Given the description of an element on the screen output the (x, y) to click on. 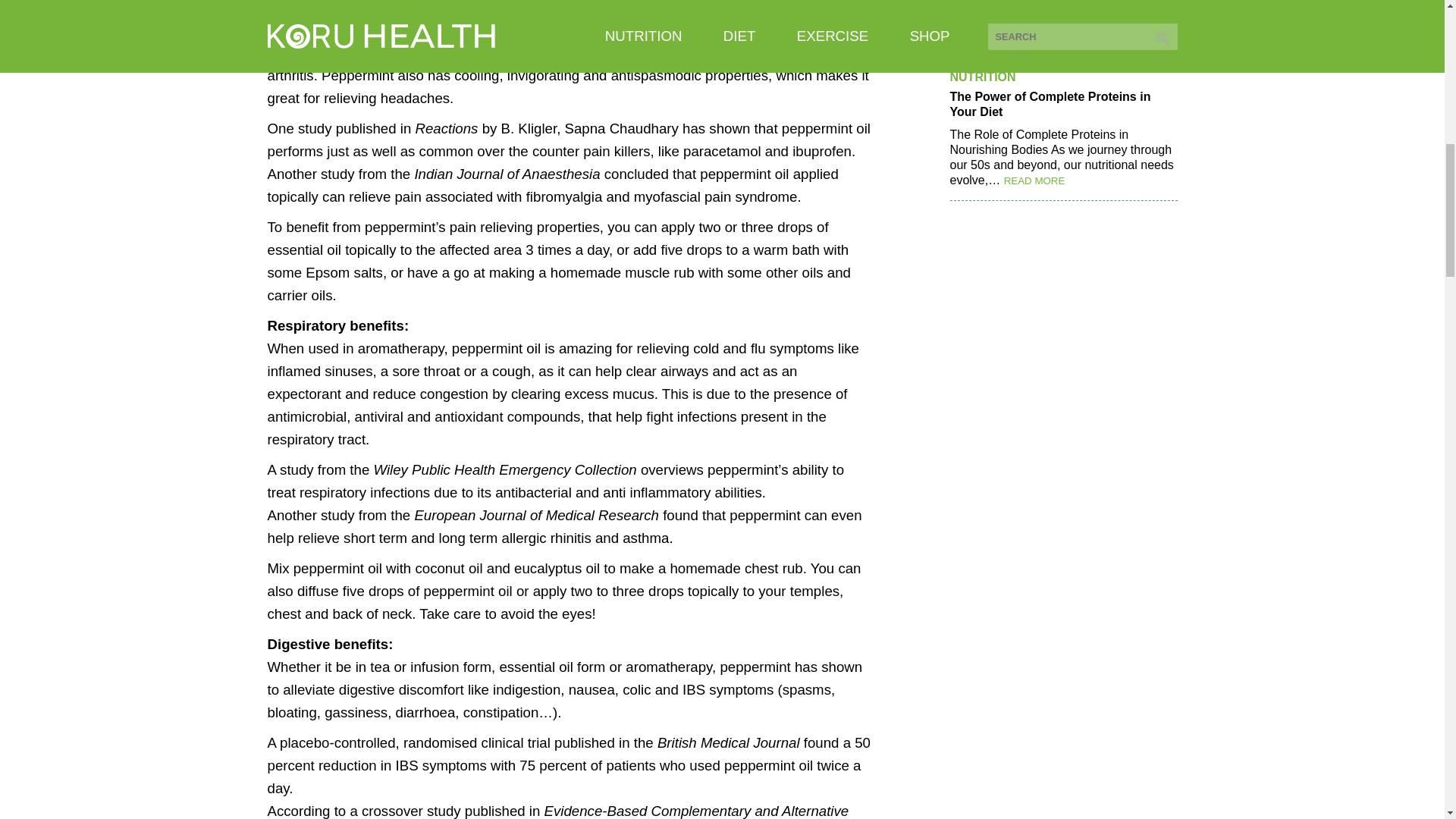
The Power of Complete Proteins in Your Diet  (1062, 104)
NUTRITION (981, 76)
READ MORE (1034, 179)
